Given the description of an element on the screen output the (x, y) to click on. 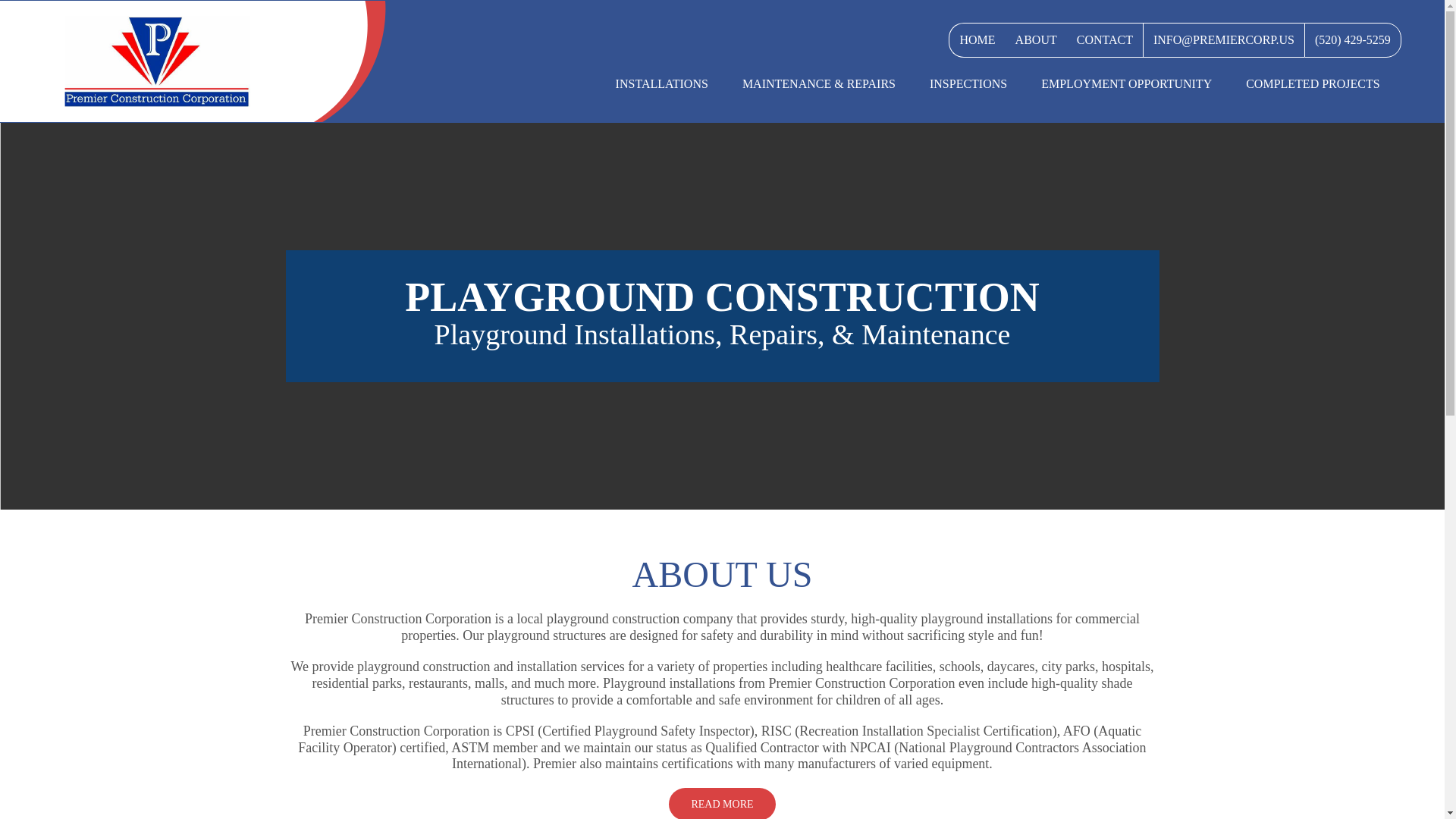
ABOUT (1036, 39)
CONTACT (1104, 39)
EMPLOYMENT OPPORTUNITY (1126, 84)
READ MORE (721, 803)
INSPECTIONS (968, 84)
INSTALLATIONS (661, 84)
COMPLETED PROJECTS (1312, 84)
HOME (976, 39)
